Given the description of an element on the screen output the (x, y) to click on. 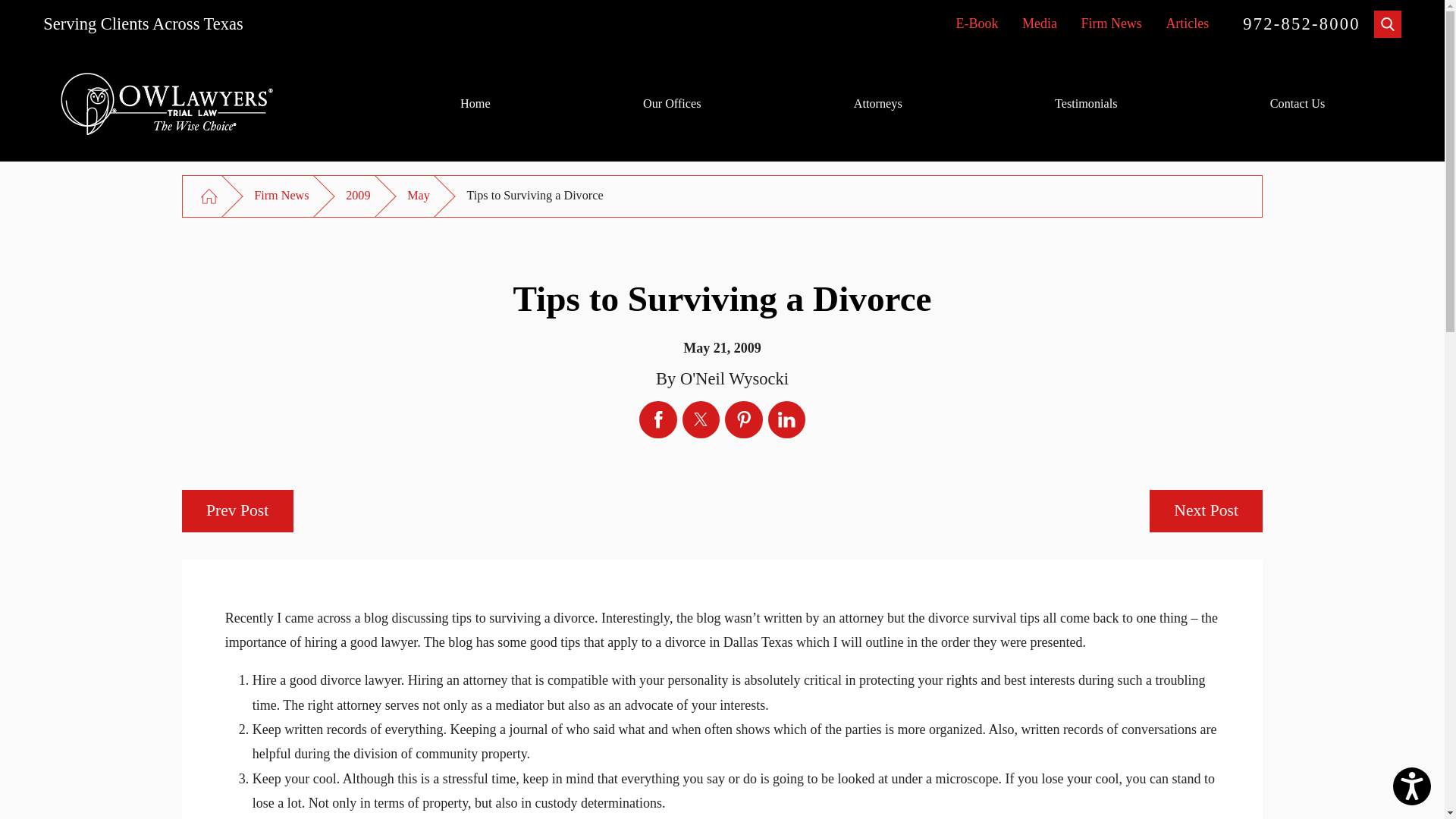
Contact Us (1296, 104)
Open the accessibility options menu (1412, 786)
Articles (1187, 23)
Home (475, 104)
Search Icon (1387, 23)
O'Neil Wysocki (170, 104)
Testimonials (1085, 104)
Go Home (209, 196)
Media (1039, 23)
Search Our Site (1387, 23)
Firm News (1110, 23)
Our Offices (671, 104)
E-Book (976, 23)
Attorneys (877, 104)
972-852-8000 (1301, 23)
